Given the description of an element on the screen output the (x, y) to click on. 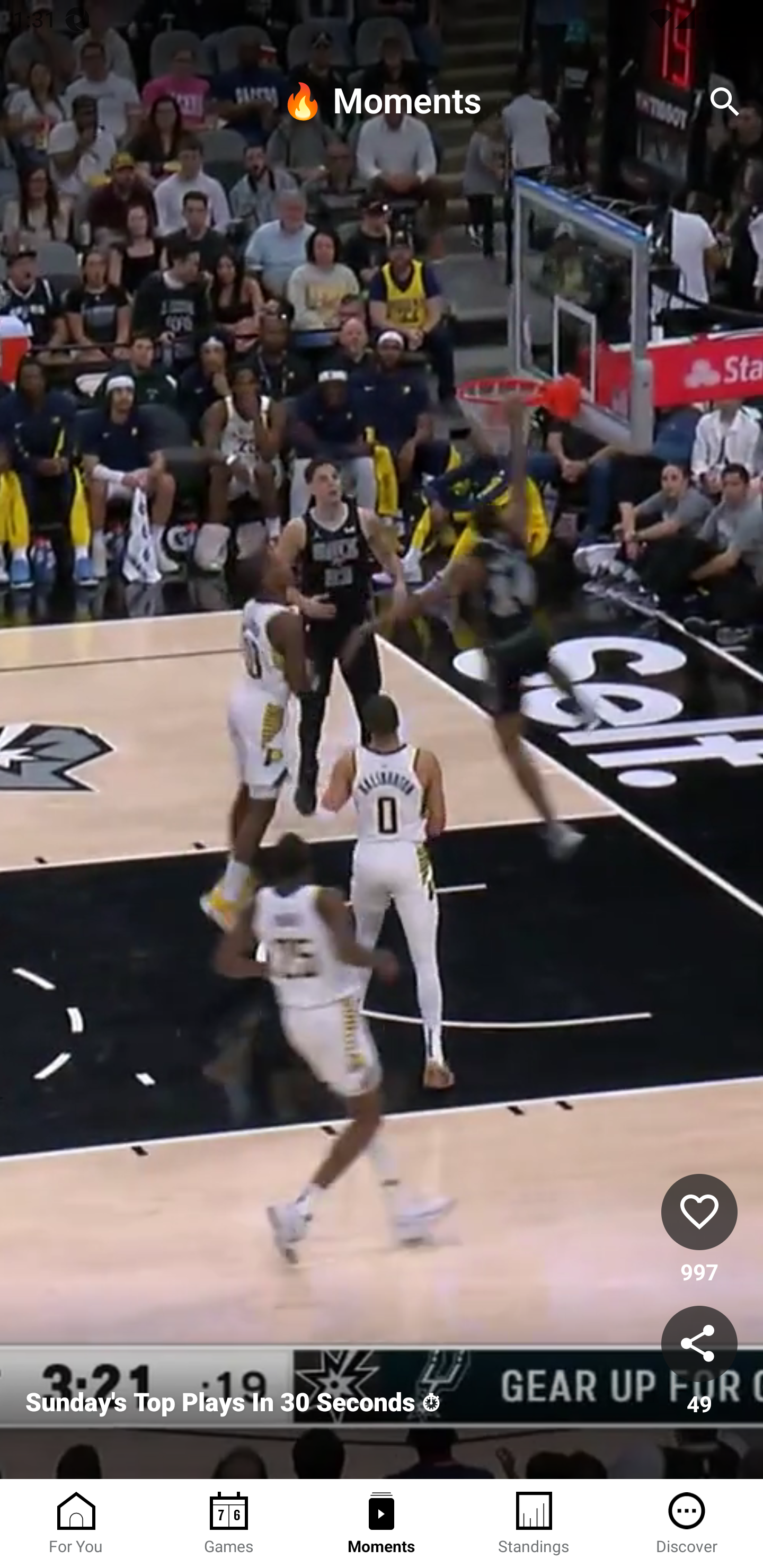
search (724, 101)
like 997 997 Likes (699, 1230)
share 49 49 Shares (699, 1362)
For You (76, 1523)
Games (228, 1523)
Standings (533, 1523)
Discover (686, 1523)
